Given the description of an element on the screen output the (x, y) to click on. 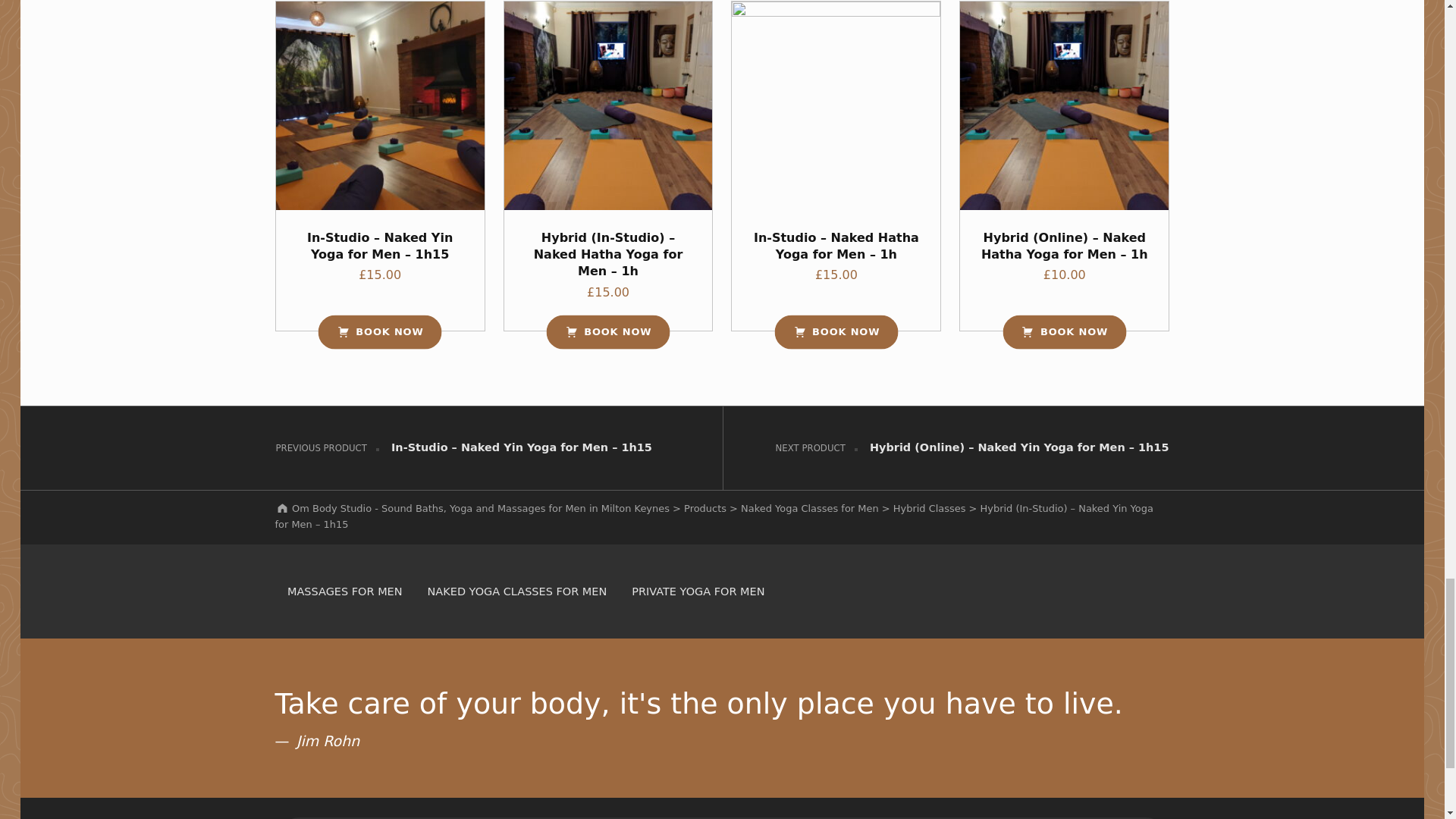
Go to the Naked Yoga Classes for Men Category archives. (810, 508)
Go to the Hybrid Classes Category archives. (929, 508)
Go to Products. (705, 508)
